Given the description of an element on the screen output the (x, y) to click on. 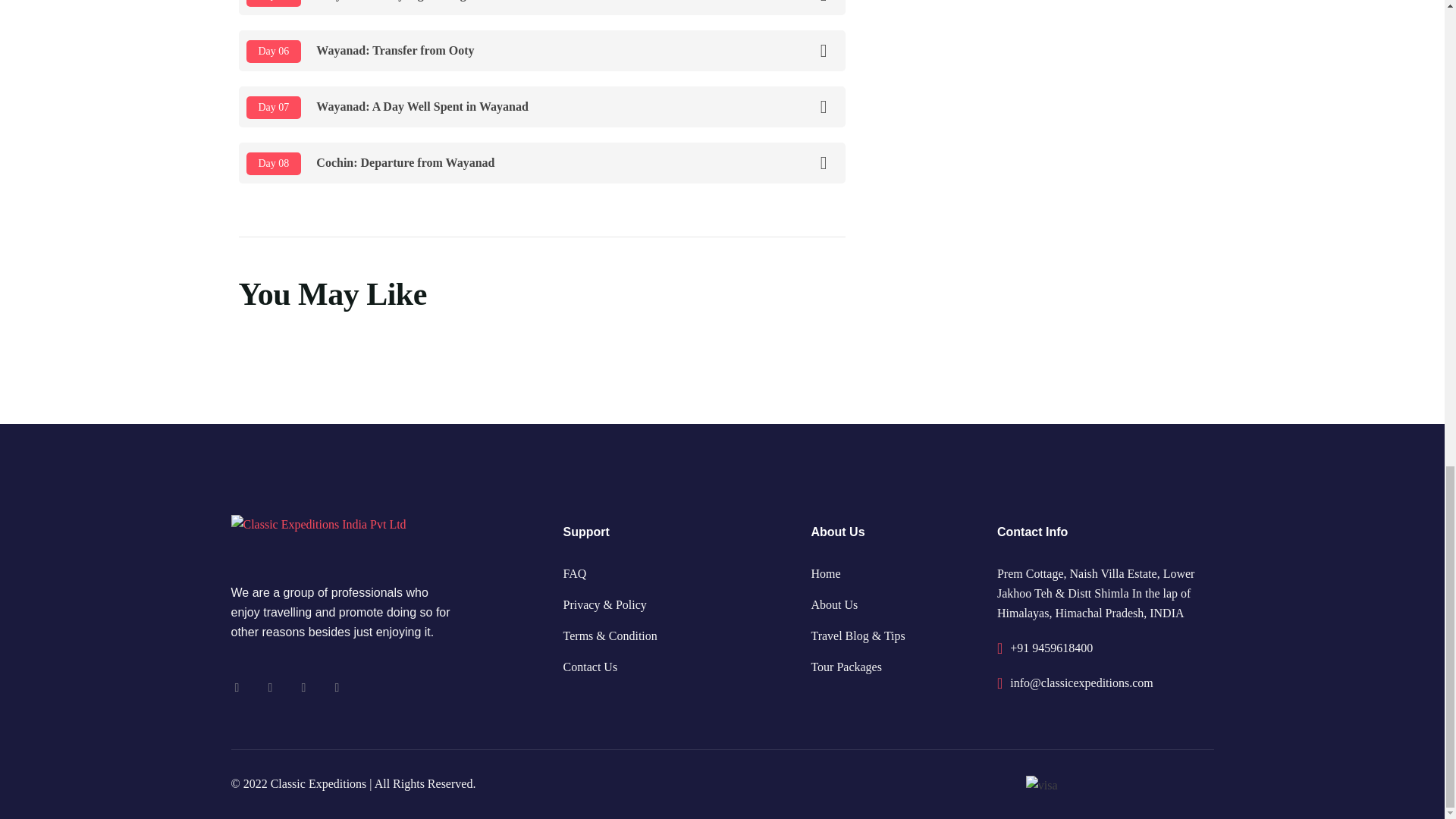
visa (1042, 784)
